Given the description of an element on the screen output the (x, y) to click on. 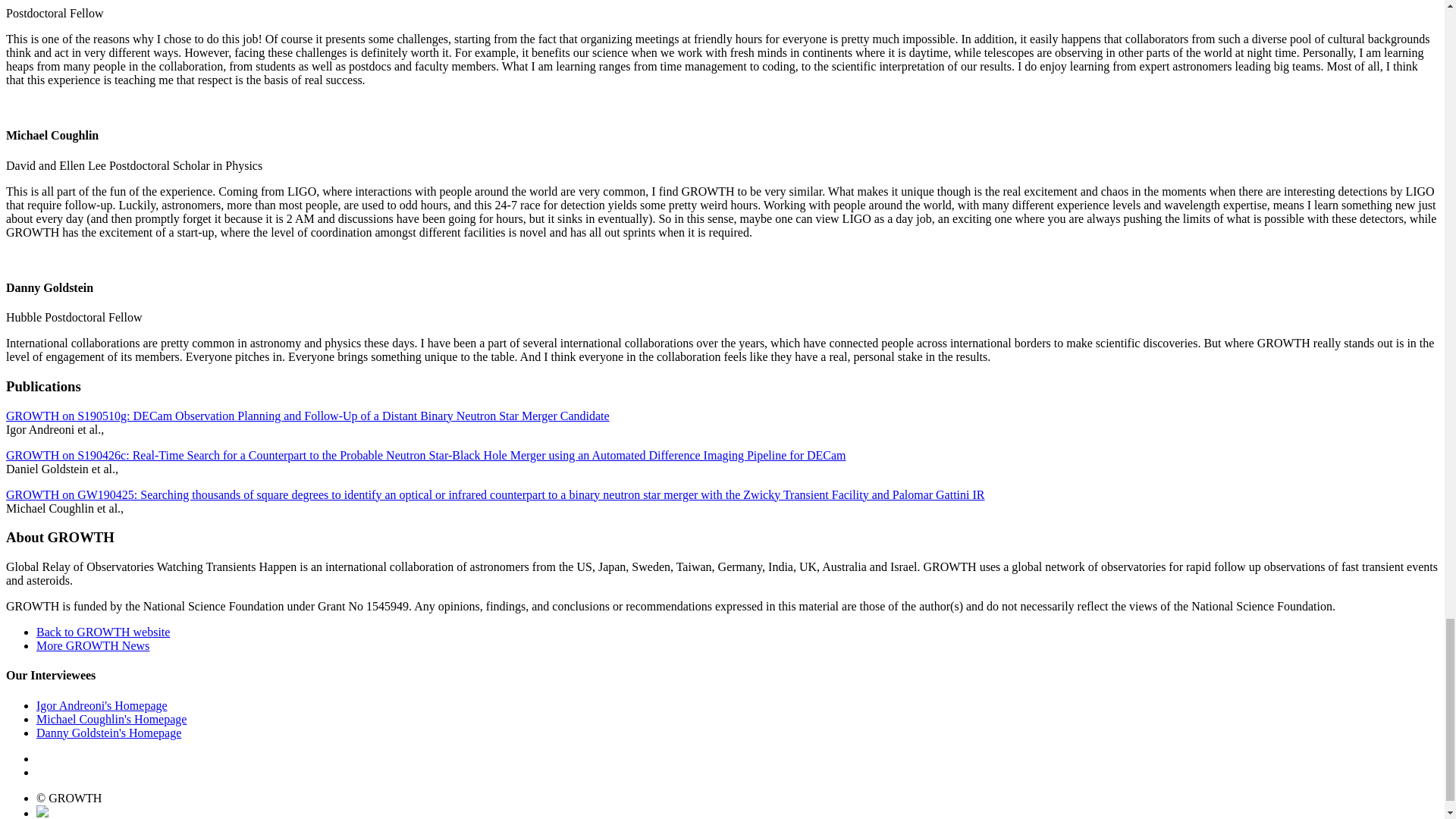
Danny Goldstein's Homepage (108, 732)
Back to GROWTH website (103, 631)
More GROWTH News (92, 645)
Michael Coughlin's Homepage (111, 718)
Igor Andreoni's Homepage (101, 705)
